Given the description of an element on the screen output the (x, y) to click on. 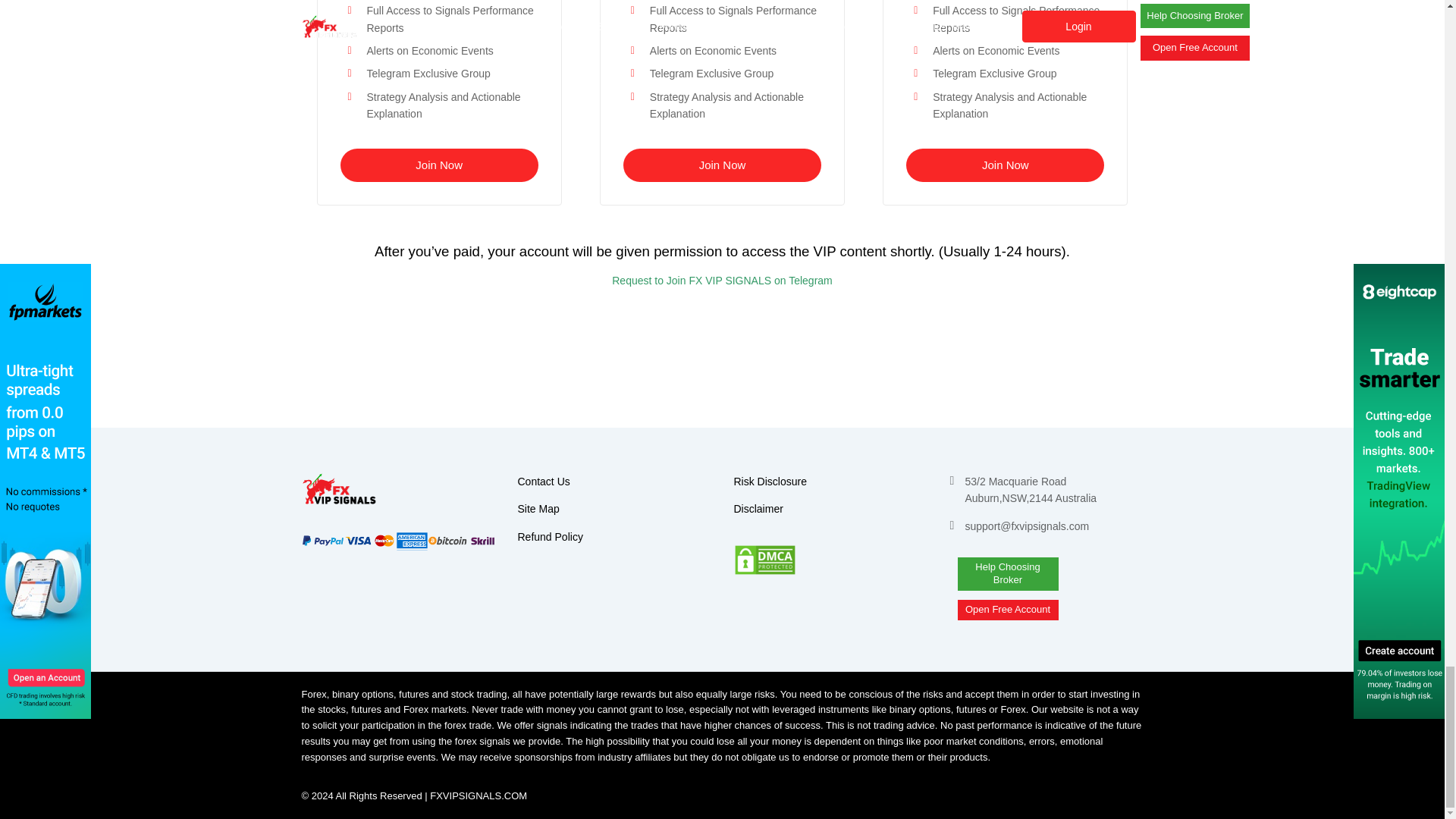
Request to Join FX VIP SIGNALS on Telegram (721, 280)
Refund Policy (549, 536)
Join Now (1004, 164)
Risk Disclosure (769, 481)
Contact Us (542, 481)
Disclaimer (758, 508)
Join Now (438, 164)
Site Map (537, 508)
Join Now (722, 164)
